Given the description of an element on the screen output the (x, y) to click on. 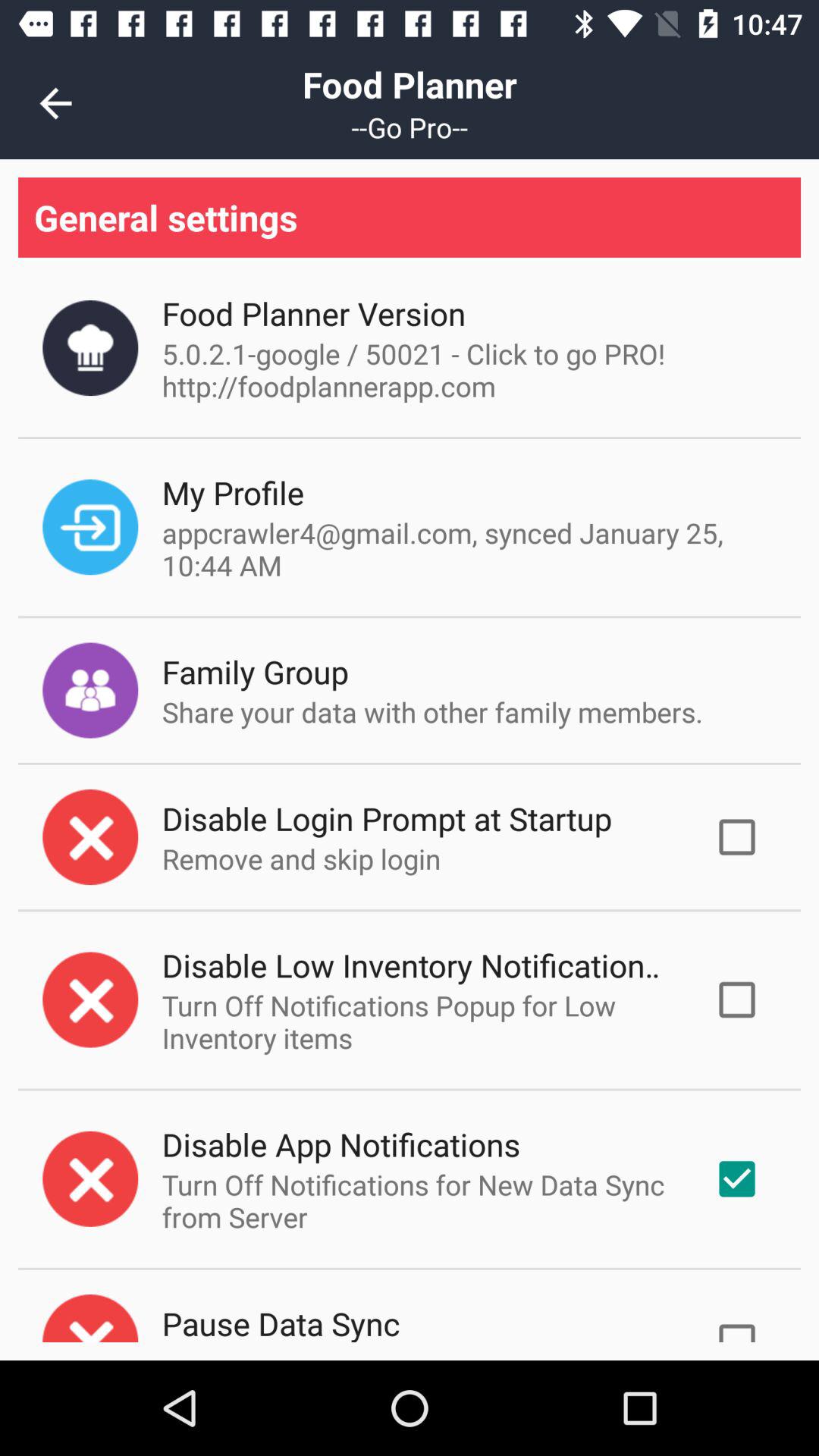
launch appcrawler4 gmail com item (465, 549)
